Given the description of an element on the screen output the (x, y) to click on. 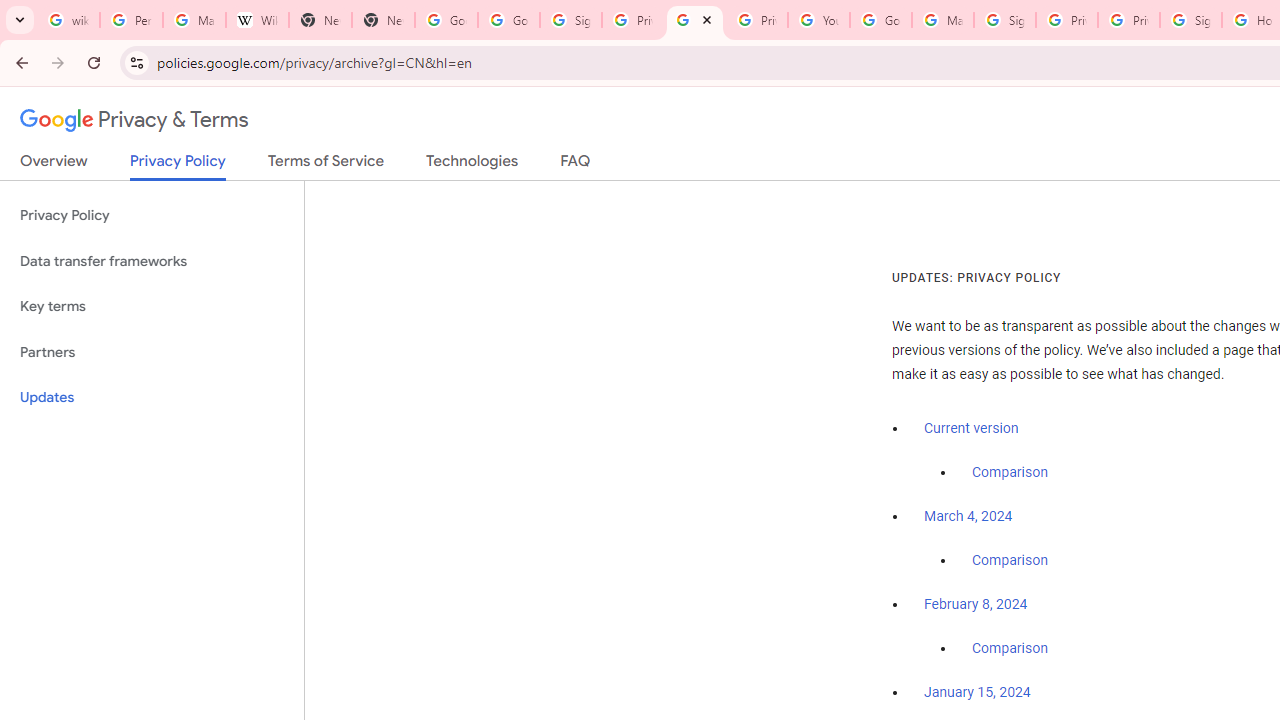
Google Account Help (880, 20)
Current version (971, 428)
Manage your Location History - Google Search Help (194, 20)
February 8, 2024 (975, 605)
Sign in - Google Accounts (1004, 20)
